Given the description of an element on the screen output the (x, y) to click on. 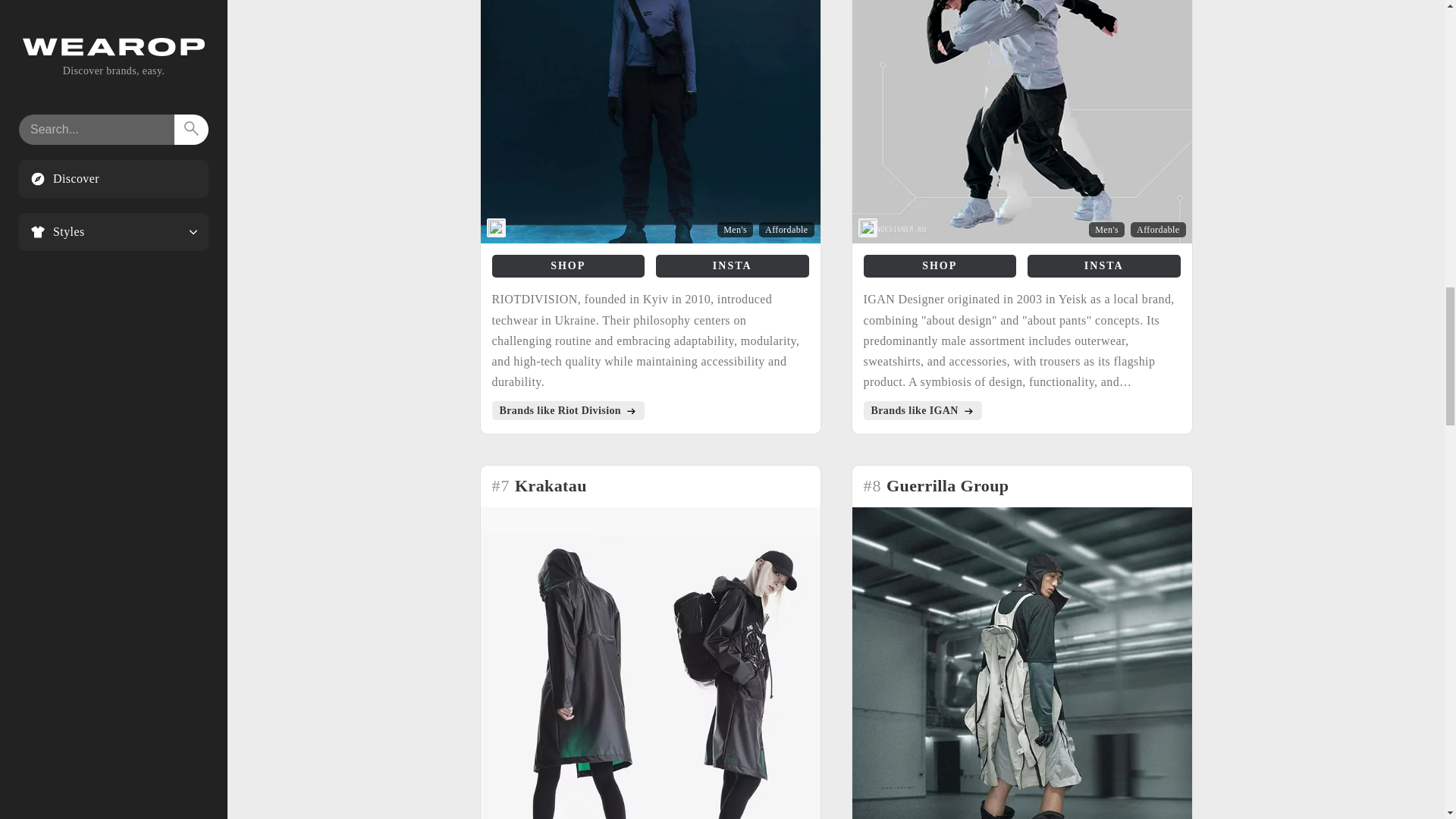
Brands like Riot Division (567, 410)
INSTA (732, 265)
SHOP (568, 265)
